Given the description of an element on the screen output the (x, y) to click on. 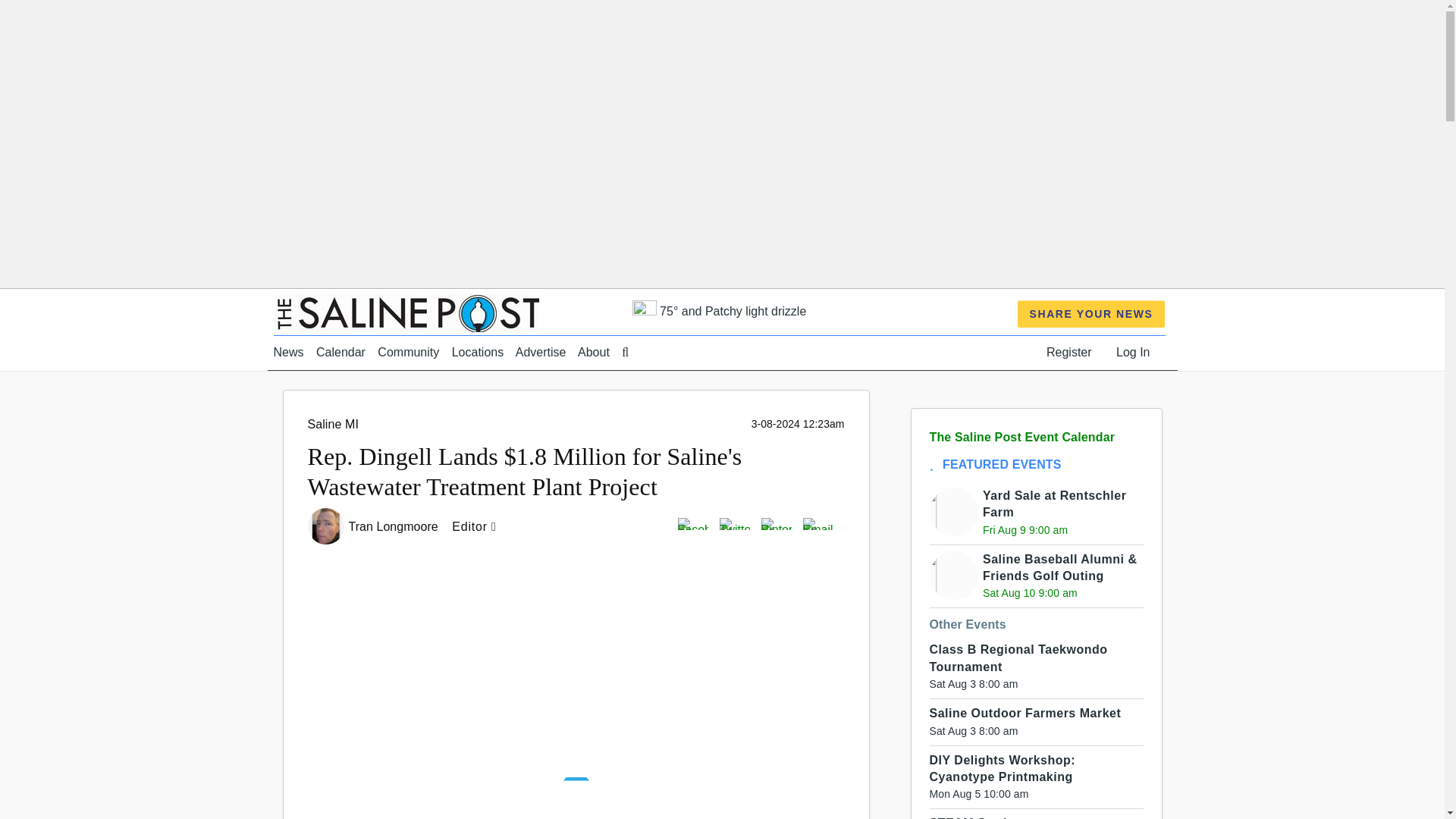
Community (408, 351)
About (594, 351)
Twitter (734, 522)
Email (817, 522)
Register (1069, 351)
Pinterest (776, 522)
Advertise (540, 351)
News (287, 351)
Editor (477, 526)
Calendar (340, 351)
Tran Longmoore (395, 526)
Tran Longmoore (395, 526)
SHARE YOUR NEWS (1091, 313)
Saline MI (332, 423)
Saline MI weather (718, 310)
